Given the description of an element on the screen output the (x, y) to click on. 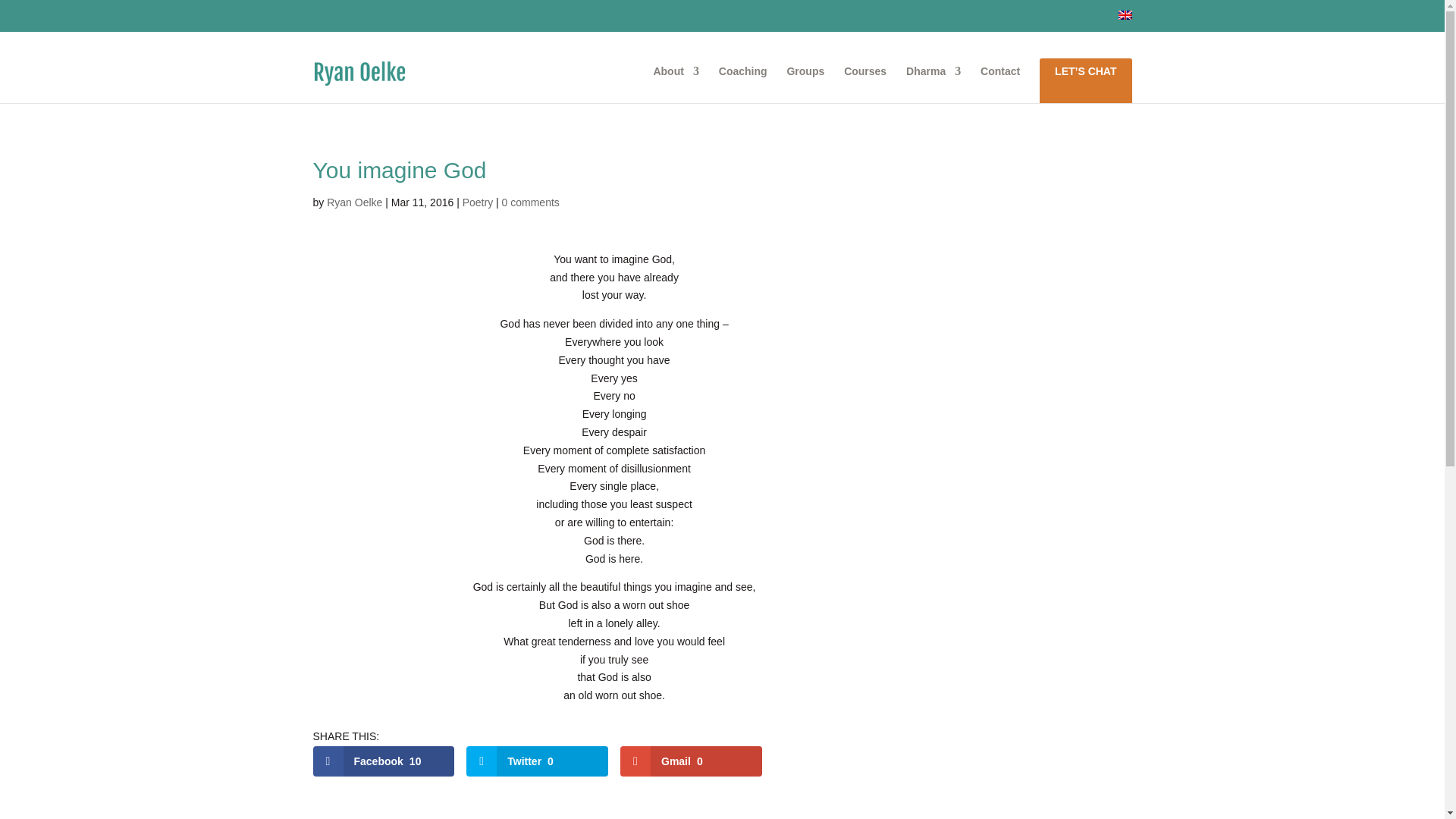
Coaching (743, 84)
Poetry (478, 202)
Posts by Ryan Oelke (353, 202)
Groups (805, 84)
Courses (865, 84)
Twitter 0 (536, 761)
Dharma (932, 84)
Contact (999, 84)
0 comments (530, 202)
Ryan Oelke (353, 202)
